Given the description of an element on the screen output the (x, y) to click on. 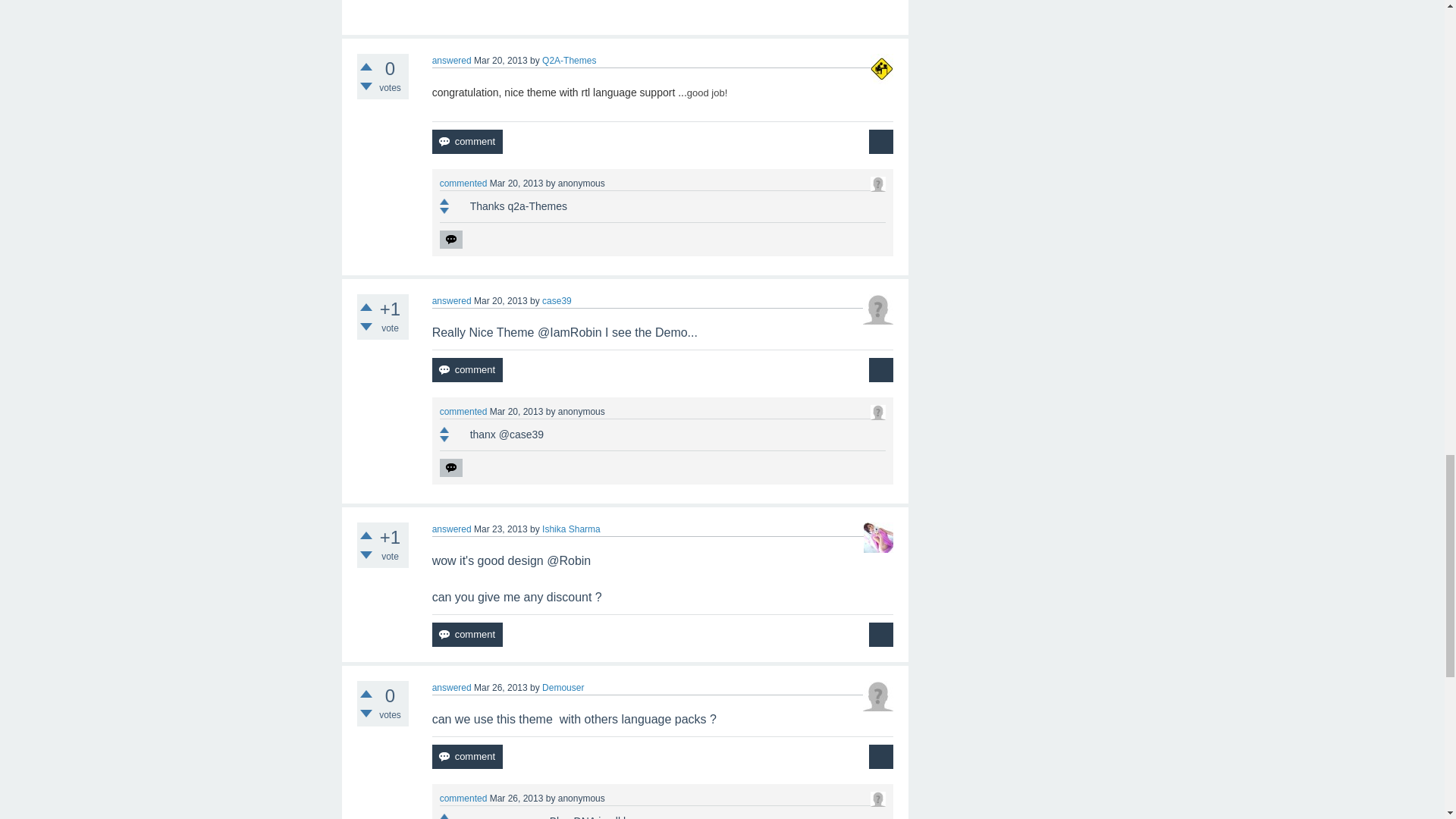
Click to vote up (365, 66)
ask related question (881, 141)
Click to vote down (365, 86)
comment (467, 141)
reply (451, 239)
